Given the description of an element on the screen output the (x, y) to click on. 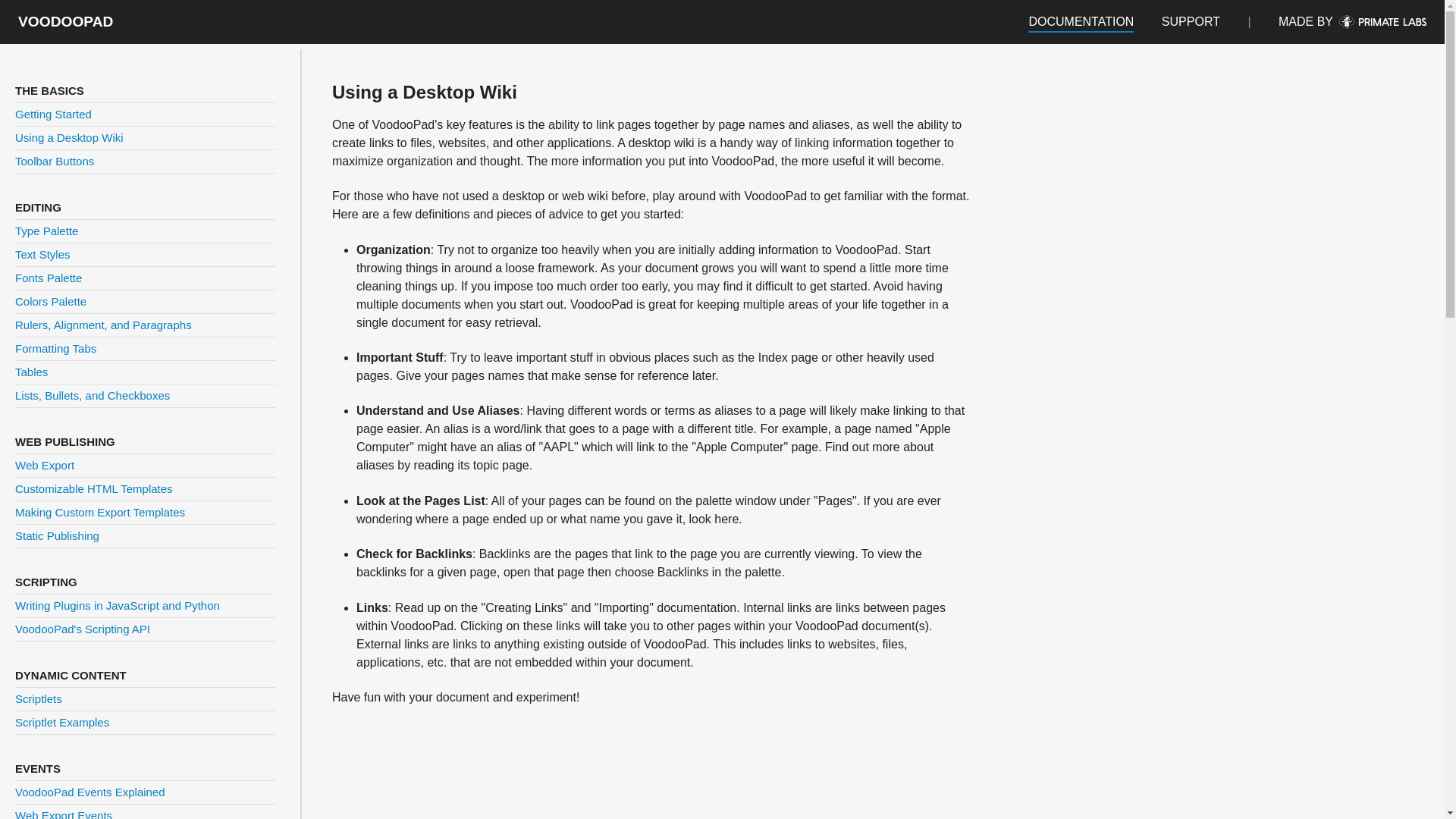
VoodooPad's Scripting API (81, 628)
Lists, Bullets, and Checkboxes (92, 395)
Writing Plugins in JavaScript and Python (116, 604)
Type Palette (46, 230)
Web Export Events (63, 814)
Toolbar Buttons (54, 160)
Fonts Palette (47, 277)
Tables (31, 371)
VoodooPad Events Explained (89, 791)
Customizable HTML Templates (93, 488)
Formatting Tabs (55, 348)
Colors Palette (49, 300)
Rulers, Alignment, and Paragraphs (103, 324)
Static Publishing (56, 535)
Scriptlet Examples (61, 721)
